Given the description of an element on the screen output the (x, y) to click on. 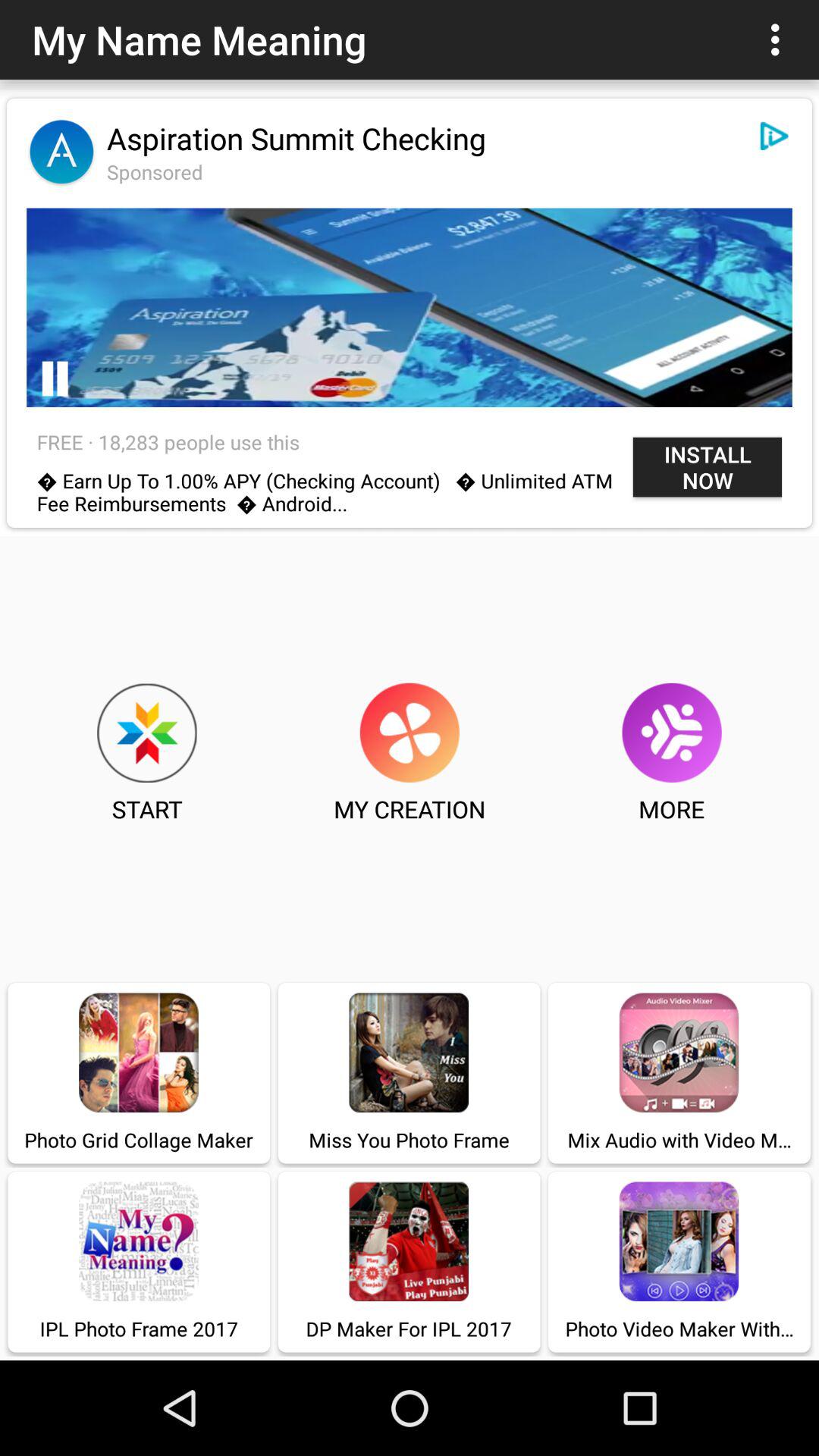
launch the app next to my name meaning (779, 39)
